Given the description of an element on the screen output the (x, y) to click on. 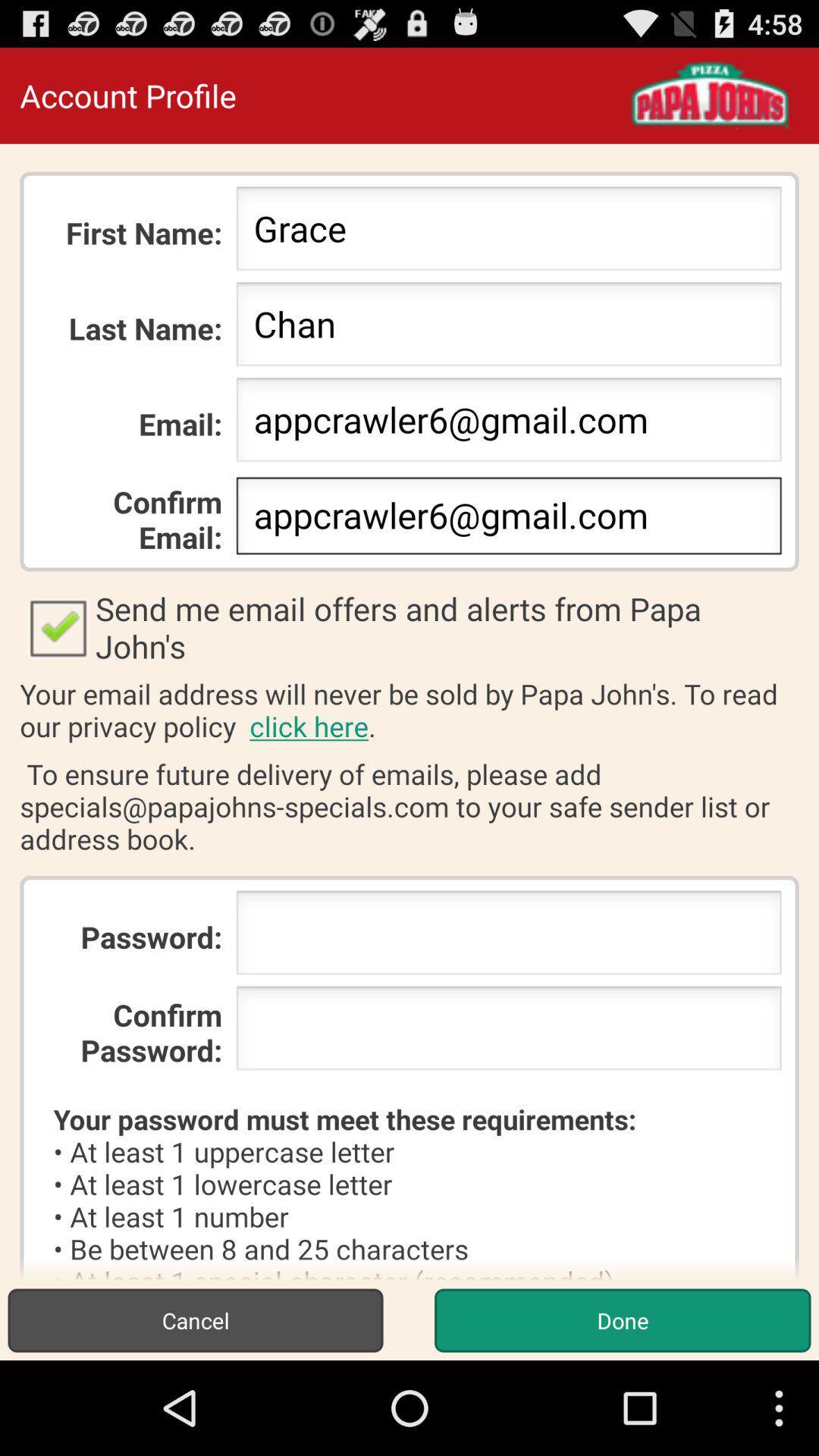
password option (508, 1032)
